Given the description of an element on the screen output the (x, y) to click on. 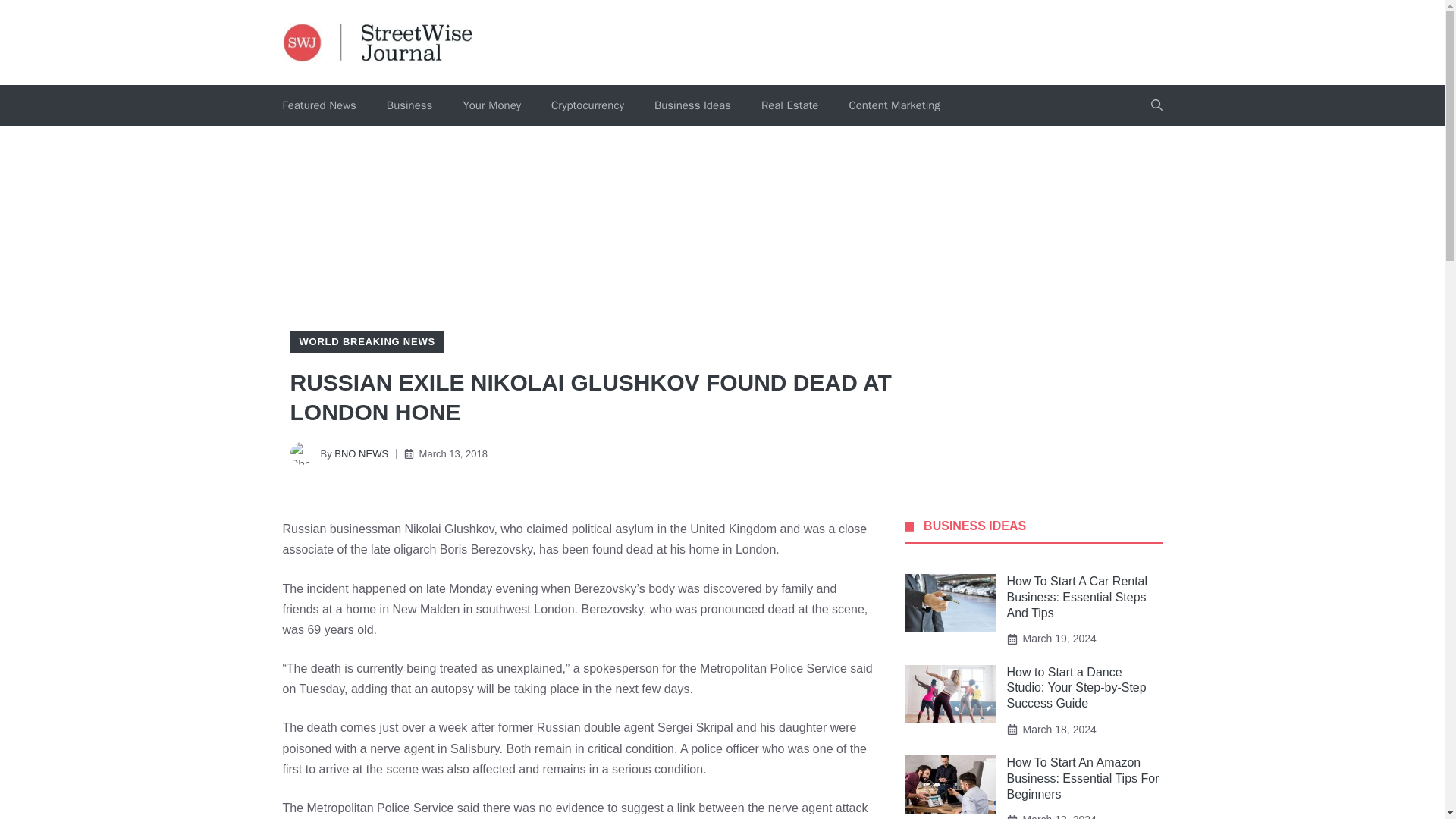
Business (409, 105)
Real Estate (788, 105)
How to Start a Dance Studio: Your Step-by-Step Success Guide (1077, 687)
Your Money (490, 105)
Content Marketing (893, 105)
Featured News (318, 105)
WORLD BREAKING NEWS (365, 341)
Cryptocurrency (587, 105)
BNO NEWS (361, 453)
How To Start A Car Rental Business: Essential Steps And Tips (1077, 596)
Business Ideas (692, 105)
